Given the description of an element on the screen output the (x, y) to click on. 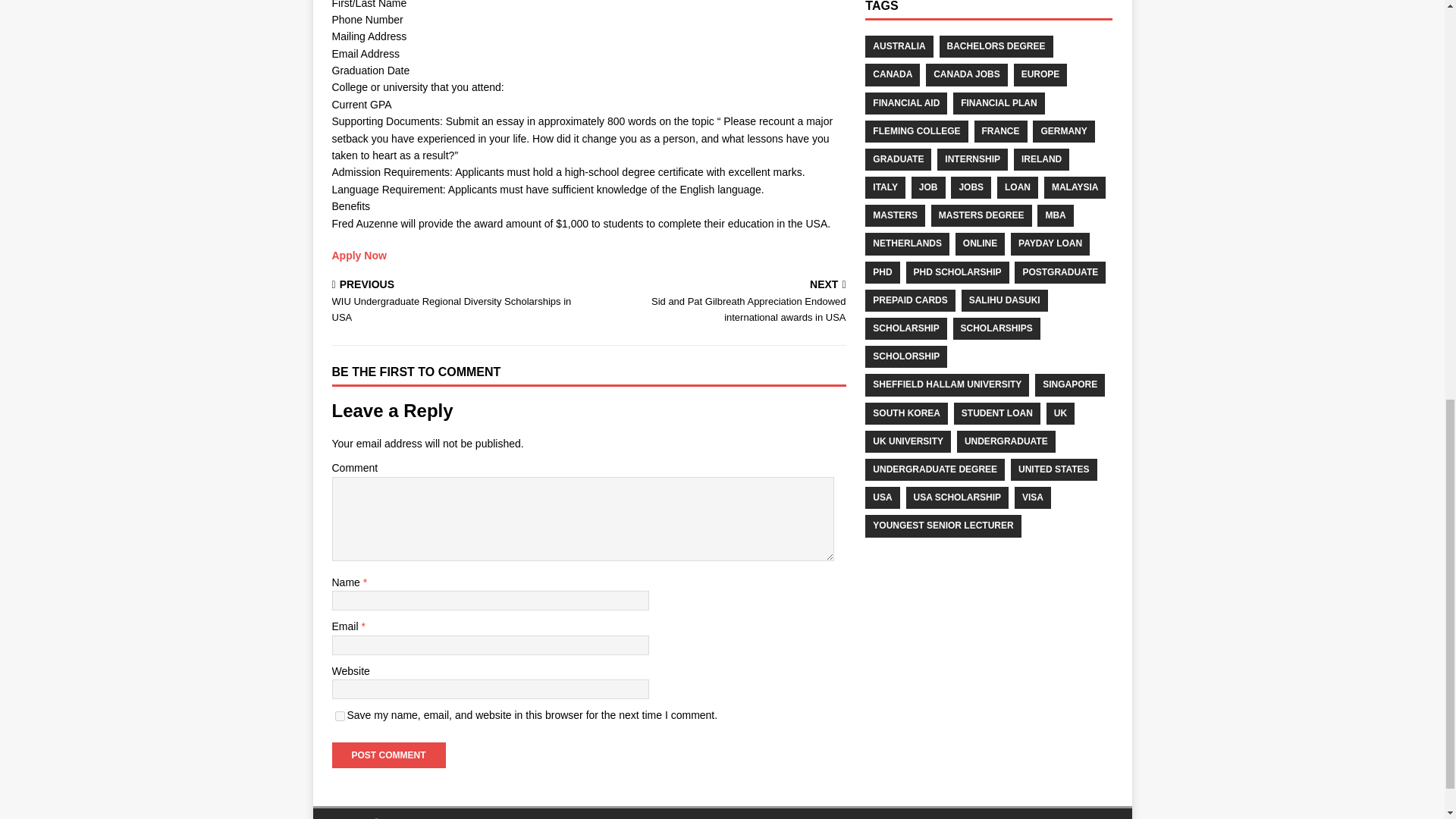
Post Comment (388, 755)
Post Comment (388, 755)
yes (339, 716)
Apply Now (359, 255)
